Given the description of an element on the screen output the (x, y) to click on. 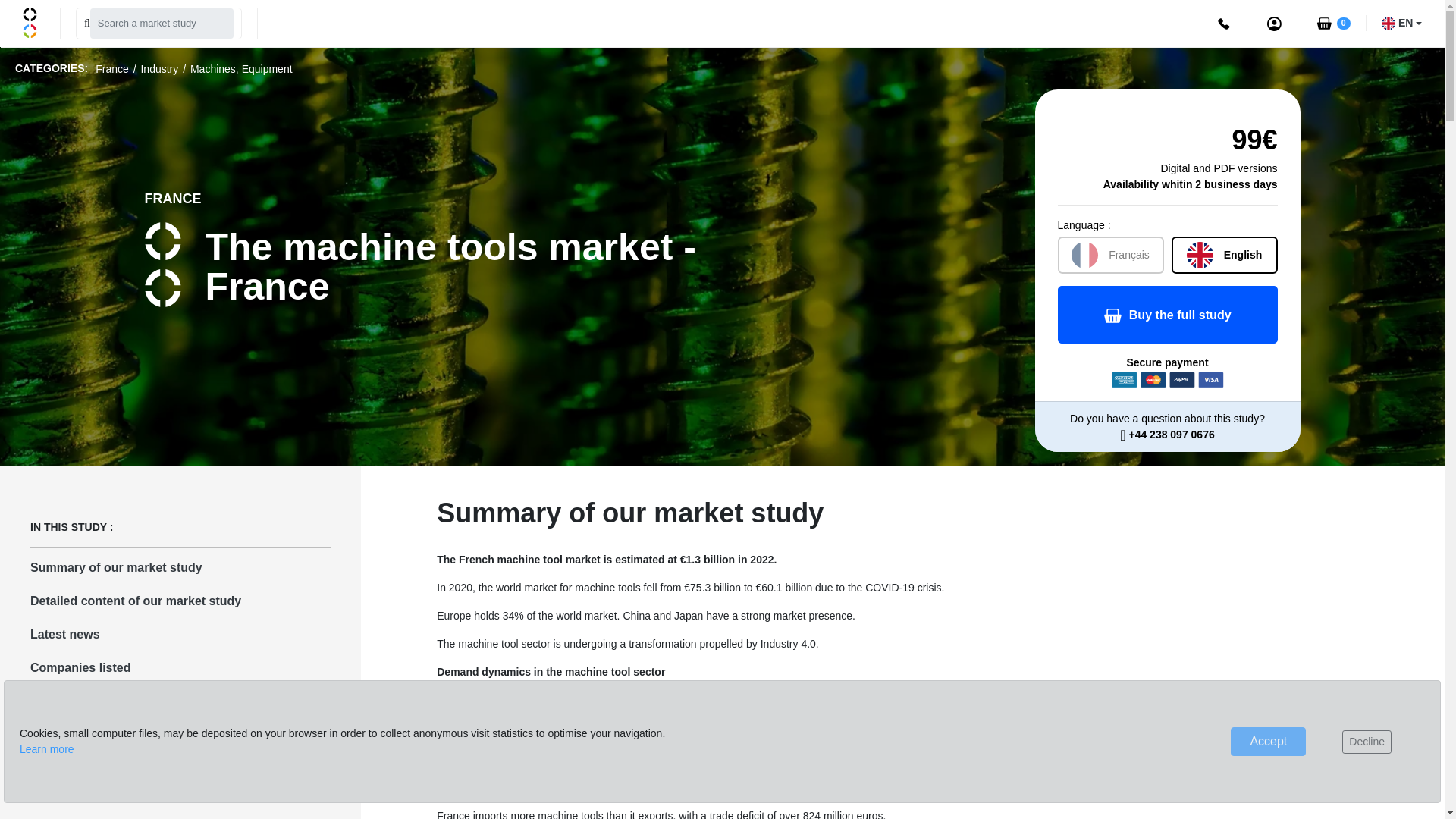
EN (1401, 23)
My cart (1332, 23)
Why choose this study ? (180, 705)
Buy the full study (1166, 314)
Our offers (180, 738)
Machines, Equipment (241, 69)
Latest news (180, 634)
Secure payment (1166, 380)
0 (1332, 23)
Back to homepage (33, 21)
